Given the description of an element on the screen output the (x, y) to click on. 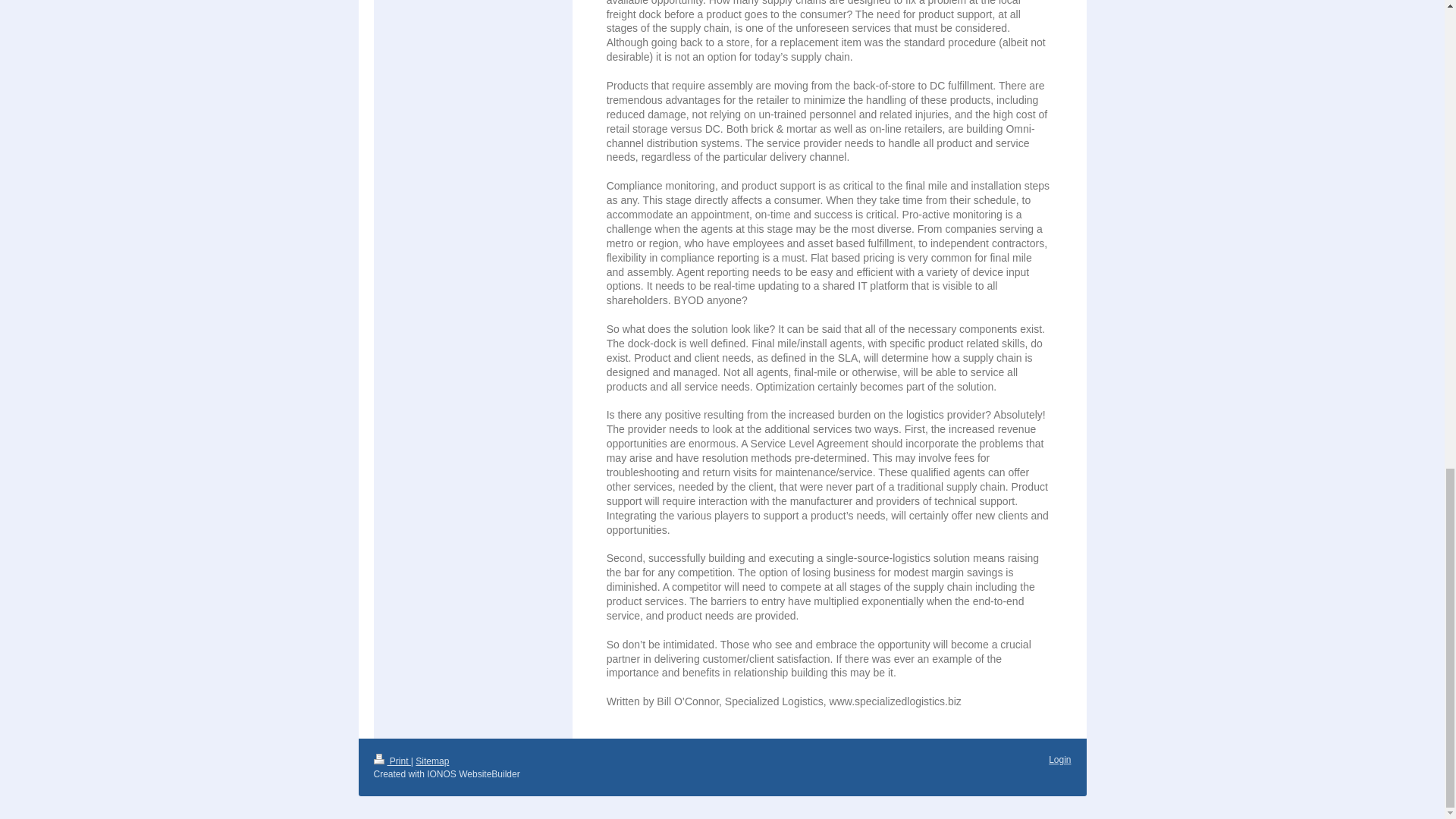
Print (391, 760)
Login (1059, 759)
Sitemap (431, 760)
